Given the description of an element on the screen output the (x, y) to click on. 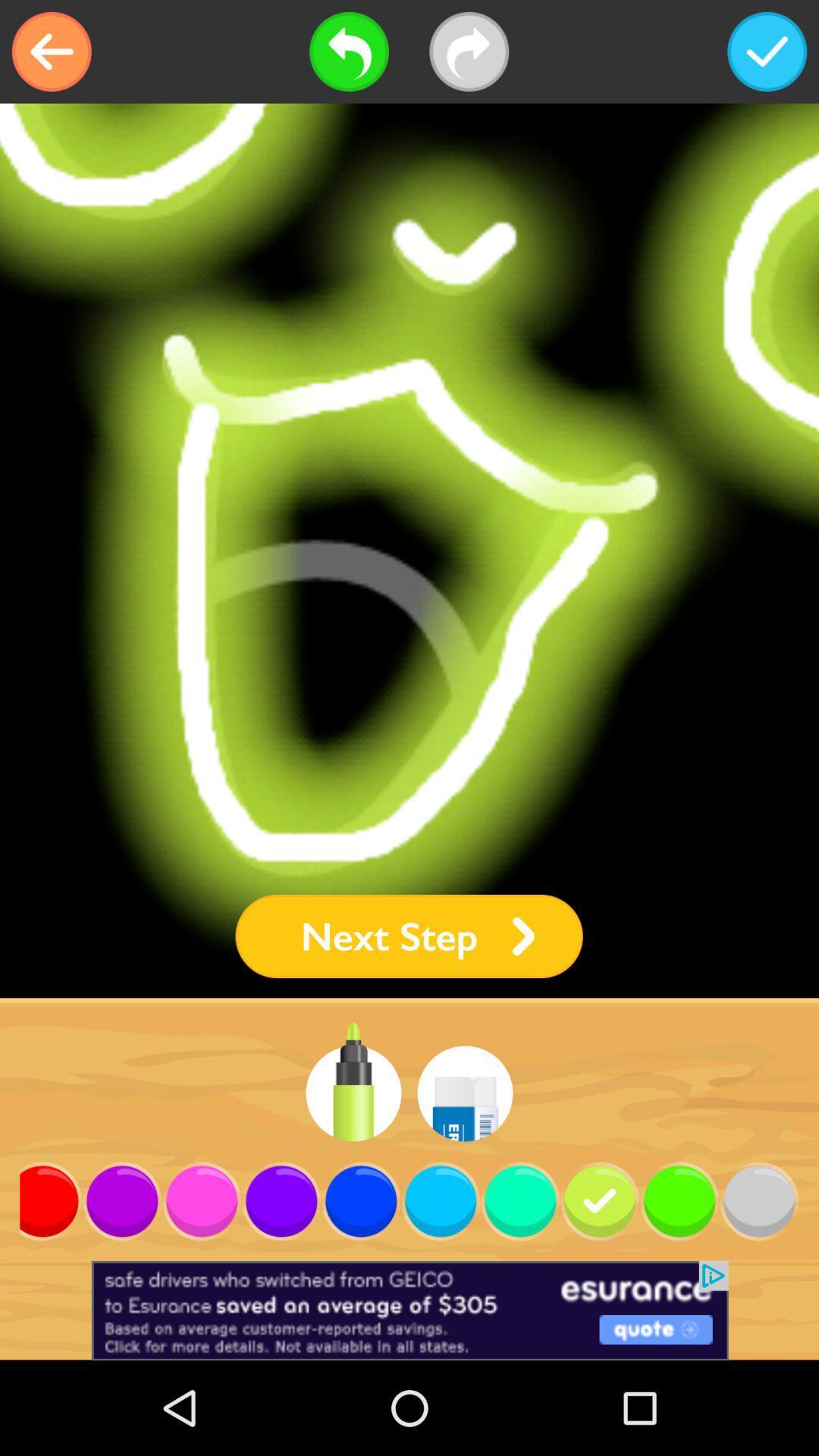
go back (349, 51)
